Given the description of an element on the screen output the (x, y) to click on. 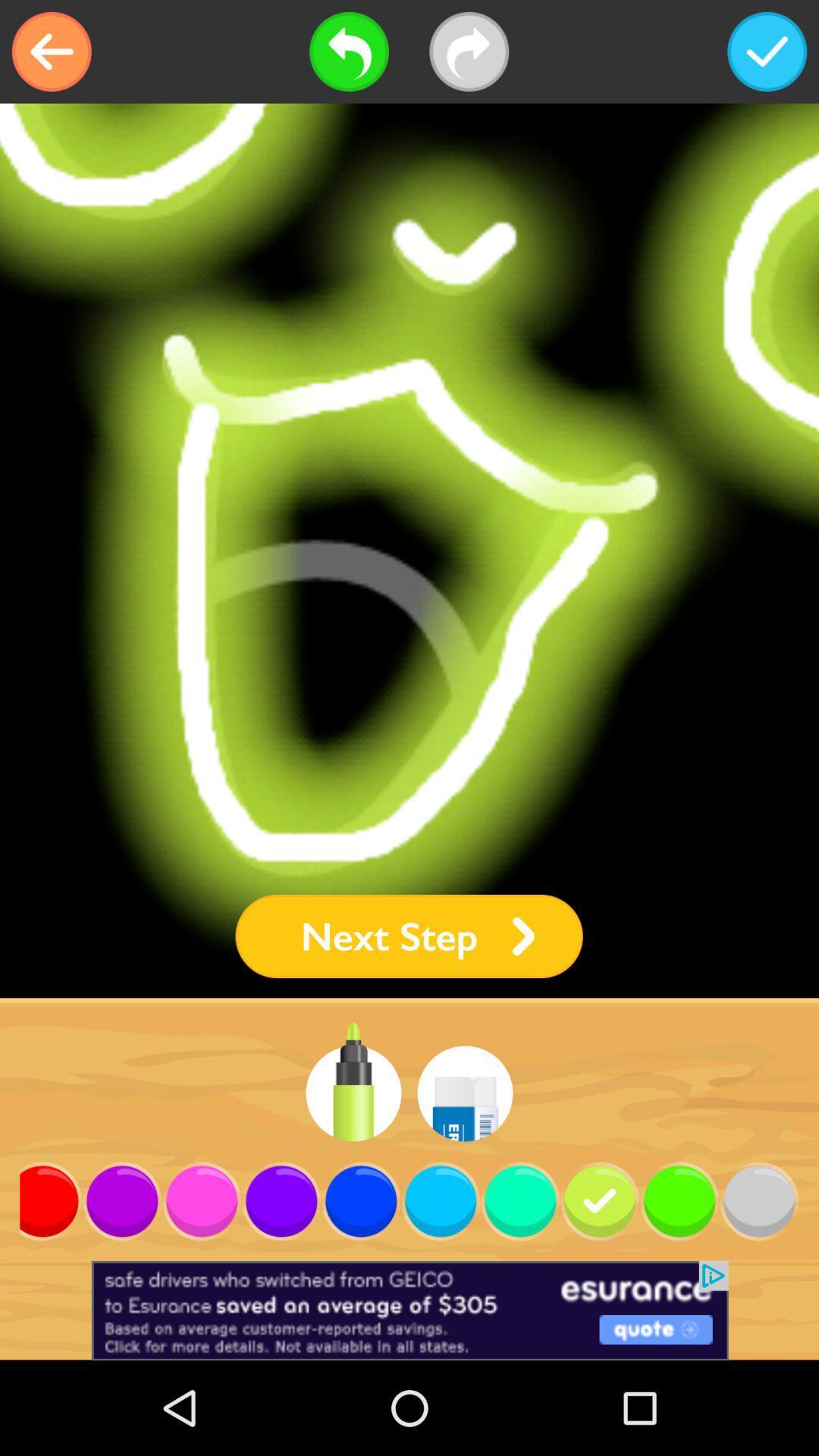
go back (349, 51)
